Given the description of an element on the screen output the (x, y) to click on. 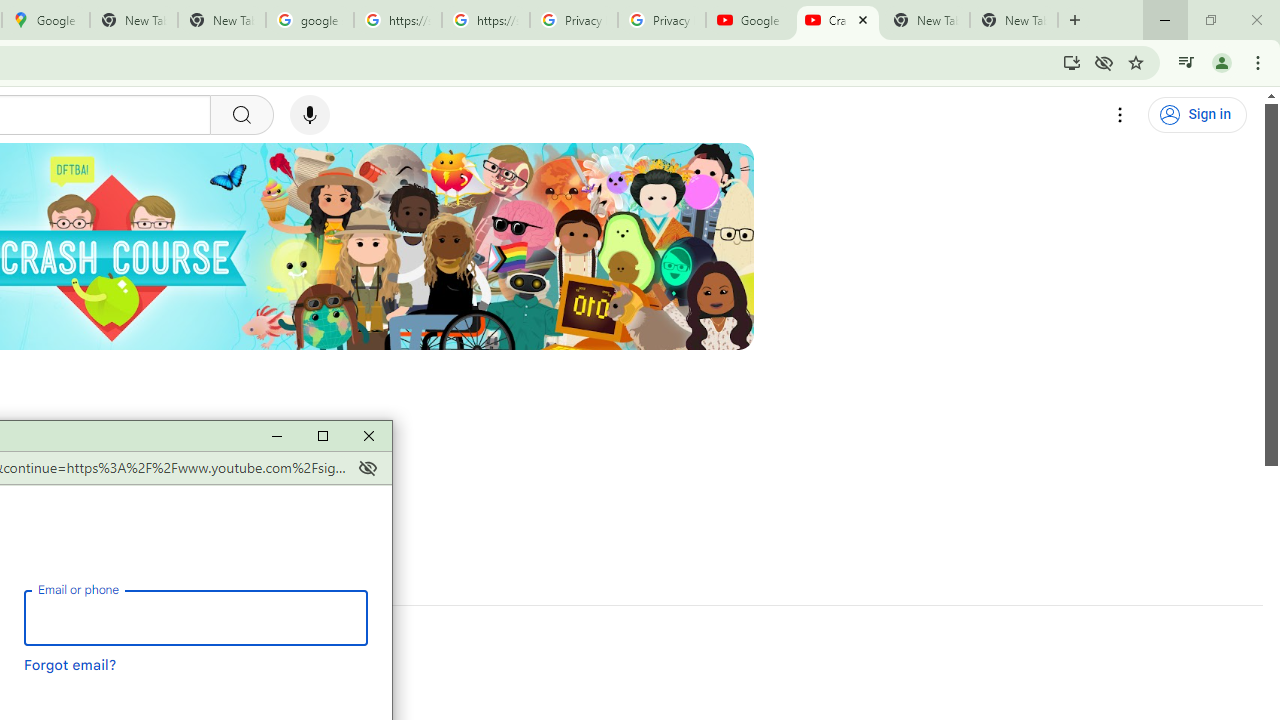
Google - YouTube (749, 20)
New Tab (1014, 20)
https://scholar.google.com/ (485, 20)
CrashCourse - YouTube (837, 20)
https://scholar.google.com/ (397, 20)
